Given the description of an element on the screen output the (x, y) to click on. 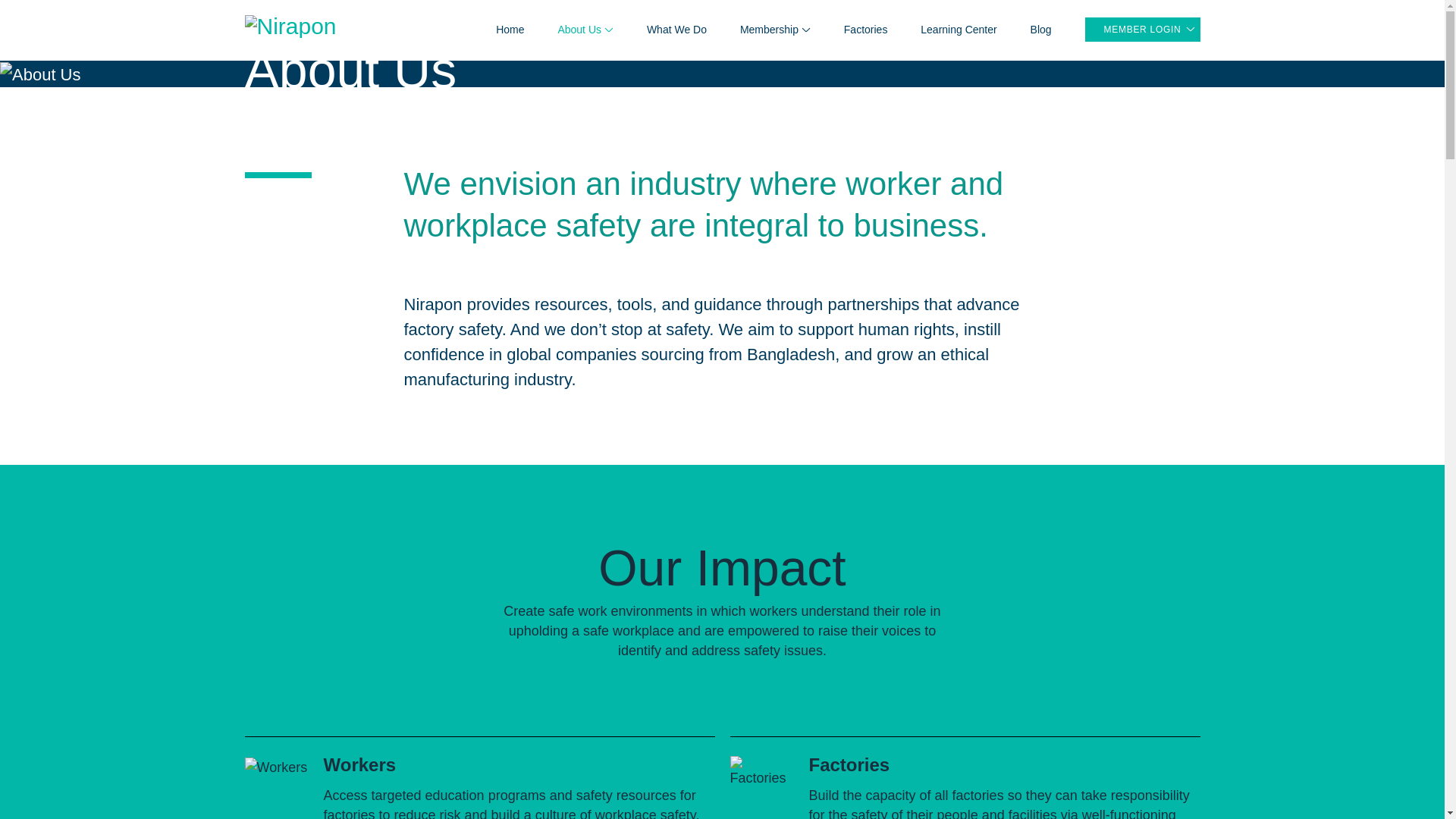
About Us (584, 29)
MEMBER LOGIN (1141, 29)
Membership (774, 29)
Learning Center (957, 29)
What We Do (676, 29)
Factories (866, 29)
Nirapon (290, 24)
Home (510, 29)
Blog (1040, 29)
